Given the description of an element on the screen output the (x, y) to click on. 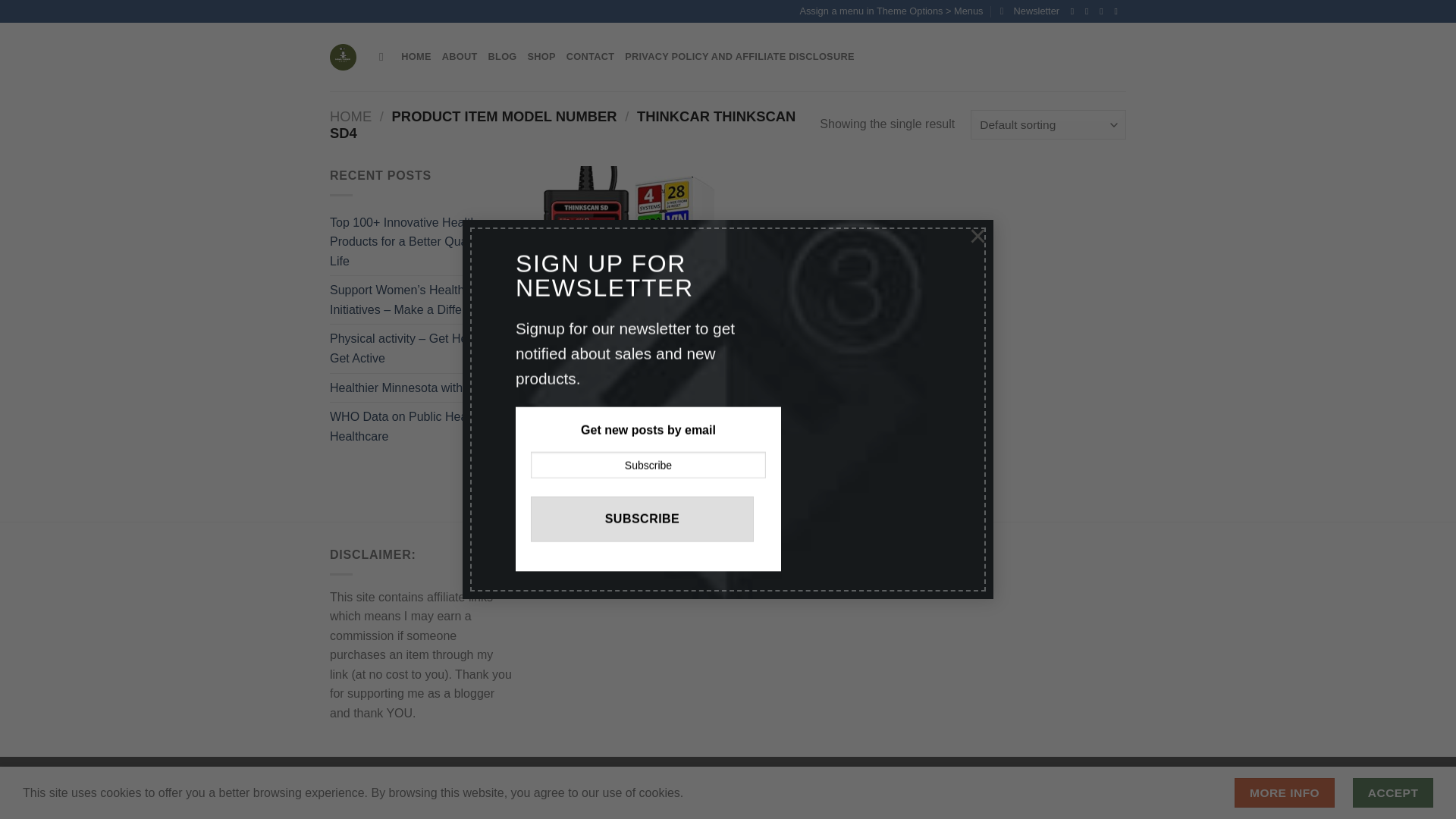
Newsletter (1029, 11)
ABOUT (459, 56)
WHO Data on Public Health and Healthcare (421, 426)
Healthier Minnesota with MDH (411, 387)
PRIVACY POLICY AND AFFILIATE DISCLOSURE (738, 56)
Healthier Direct - Get inspired, stay motivated, live well   (343, 57)
HOME (350, 116)
SHOP (541, 56)
BLOG (501, 56)
Subscribe (642, 519)
HOME (415, 56)
CONTACT (590, 56)
Subscribe (642, 519)
AI USAGE POLICY (373, 773)
